Given the description of an element on the screen output the (x, y) to click on. 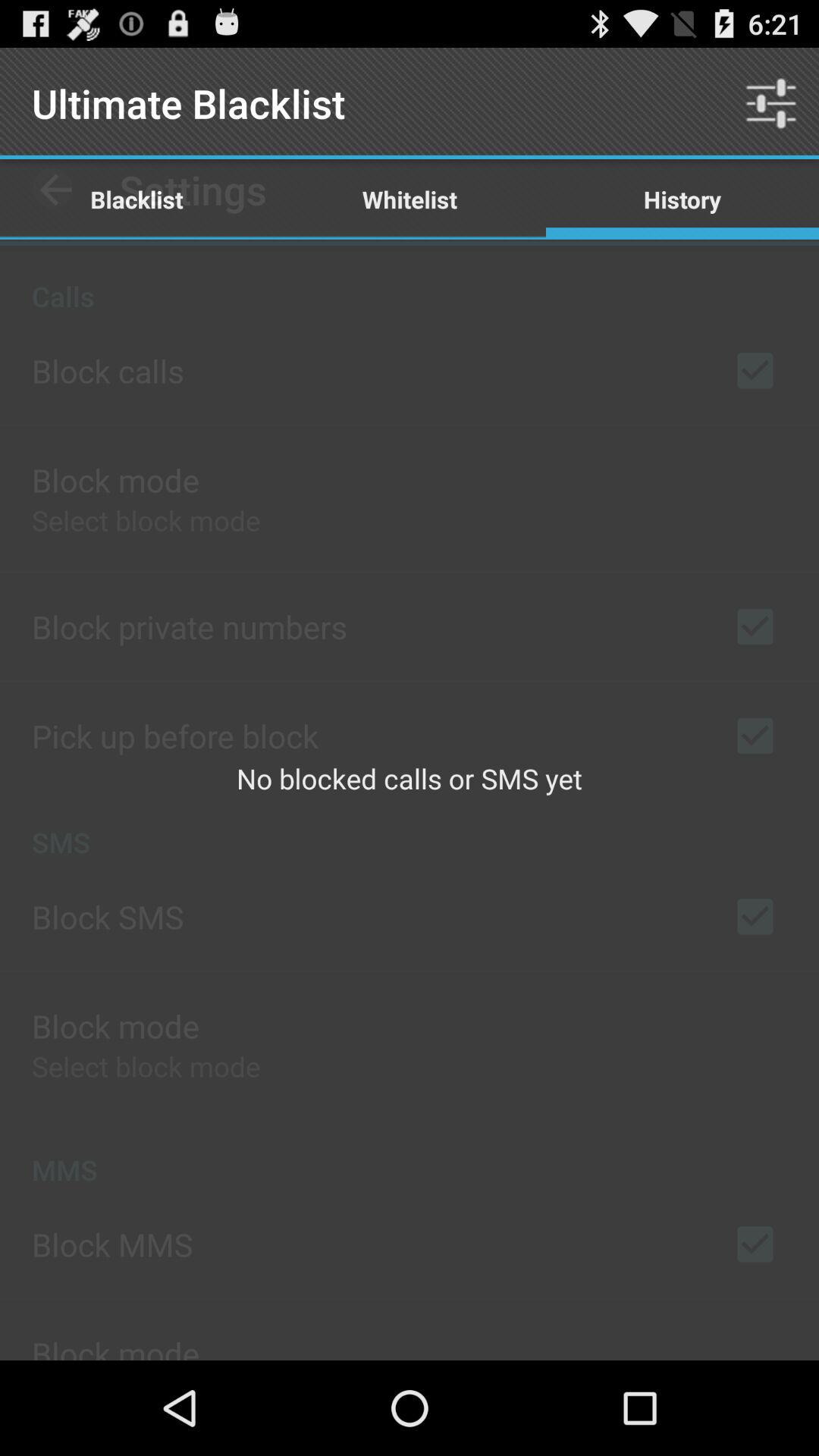
open the icon next to the whitelist (682, 199)
